Given the description of an element on the screen output the (x, y) to click on. 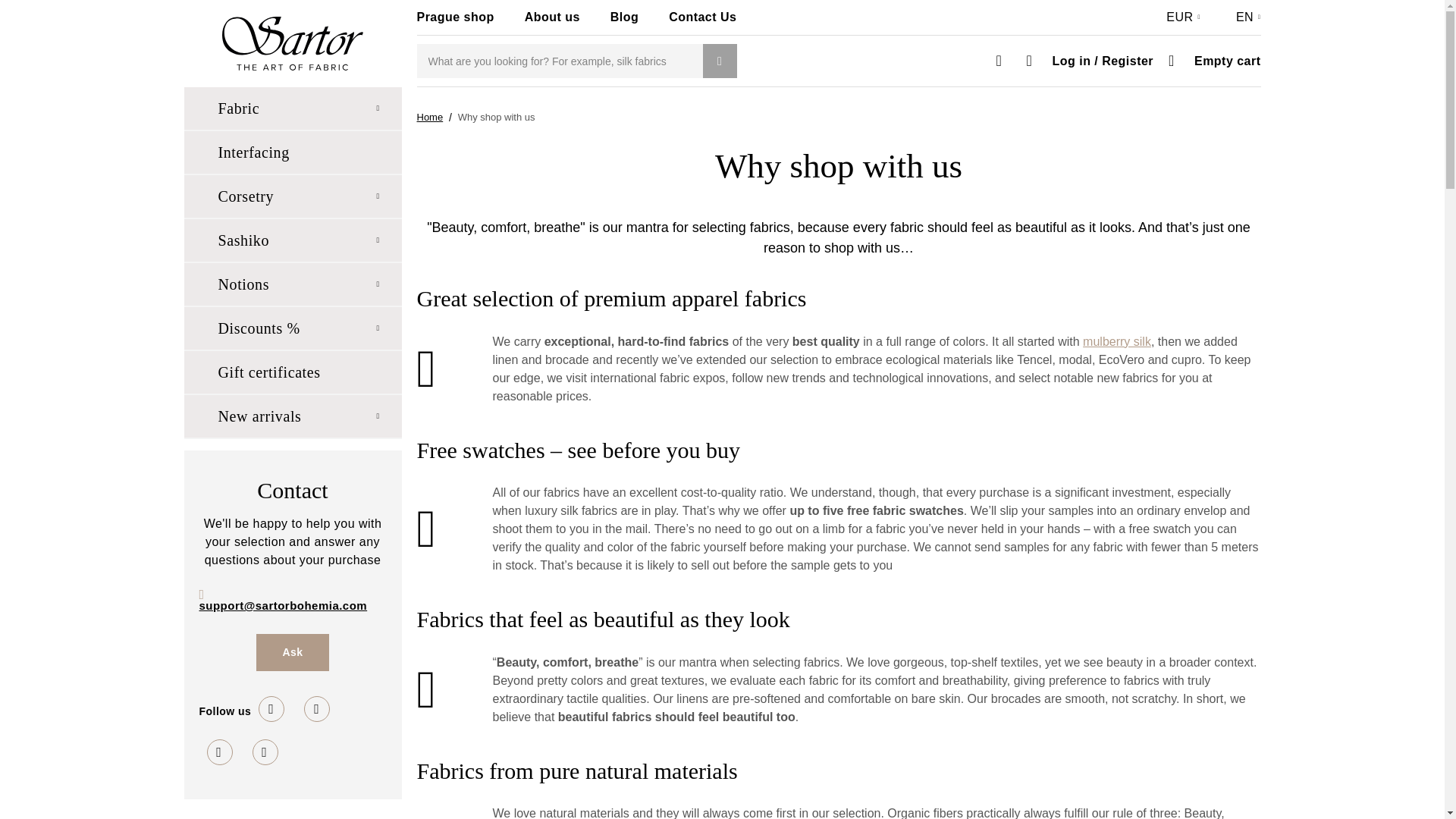
Empty cart (1210, 59)
Search (718, 60)
About us (565, 16)
Search (1122, 56)
Prague shop (468, 16)
Contact Us (715, 16)
Blog (637, 16)
Continue shopping (430, 116)
Fabric (292, 107)
